Given the description of an element on the screen output the (x, y) to click on. 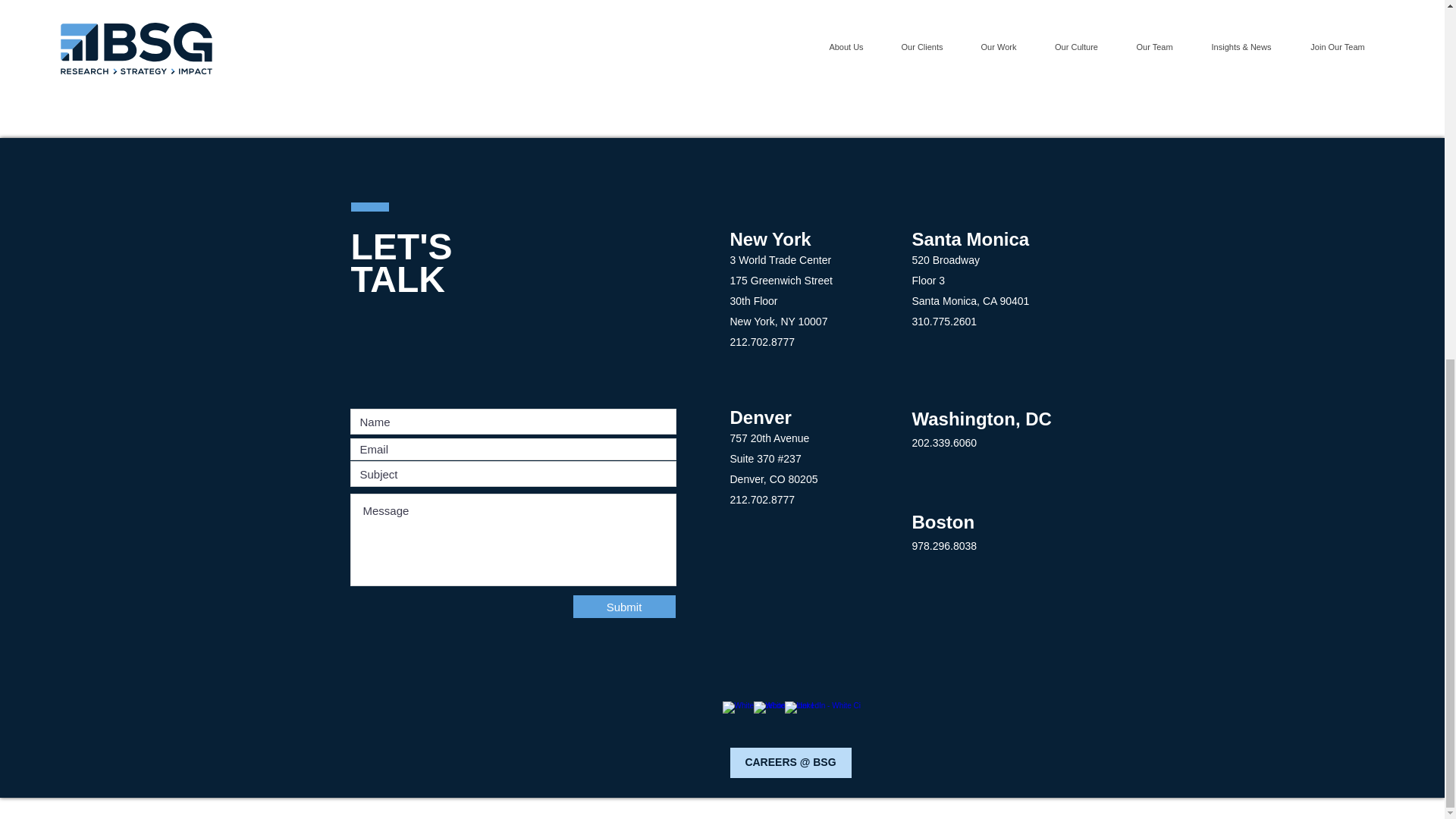
Submit (624, 606)
Privacy Policy (540, 811)
BACK TO OUR TEAM (417, 39)
